Given the description of an element on the screen output the (x, y) to click on. 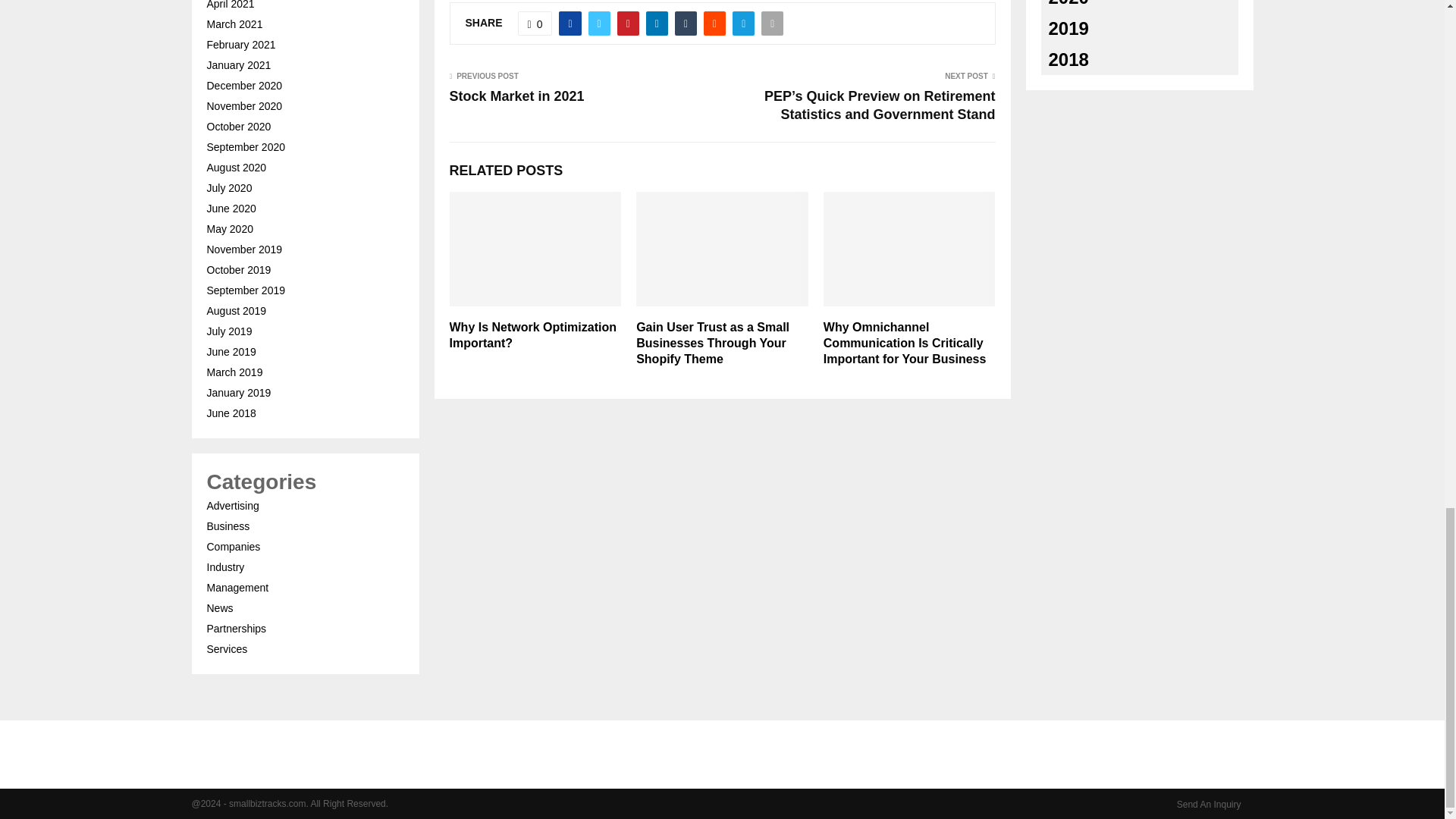
0 (535, 23)
Like (535, 23)
